Given the description of an element on the screen output the (x, y) to click on. 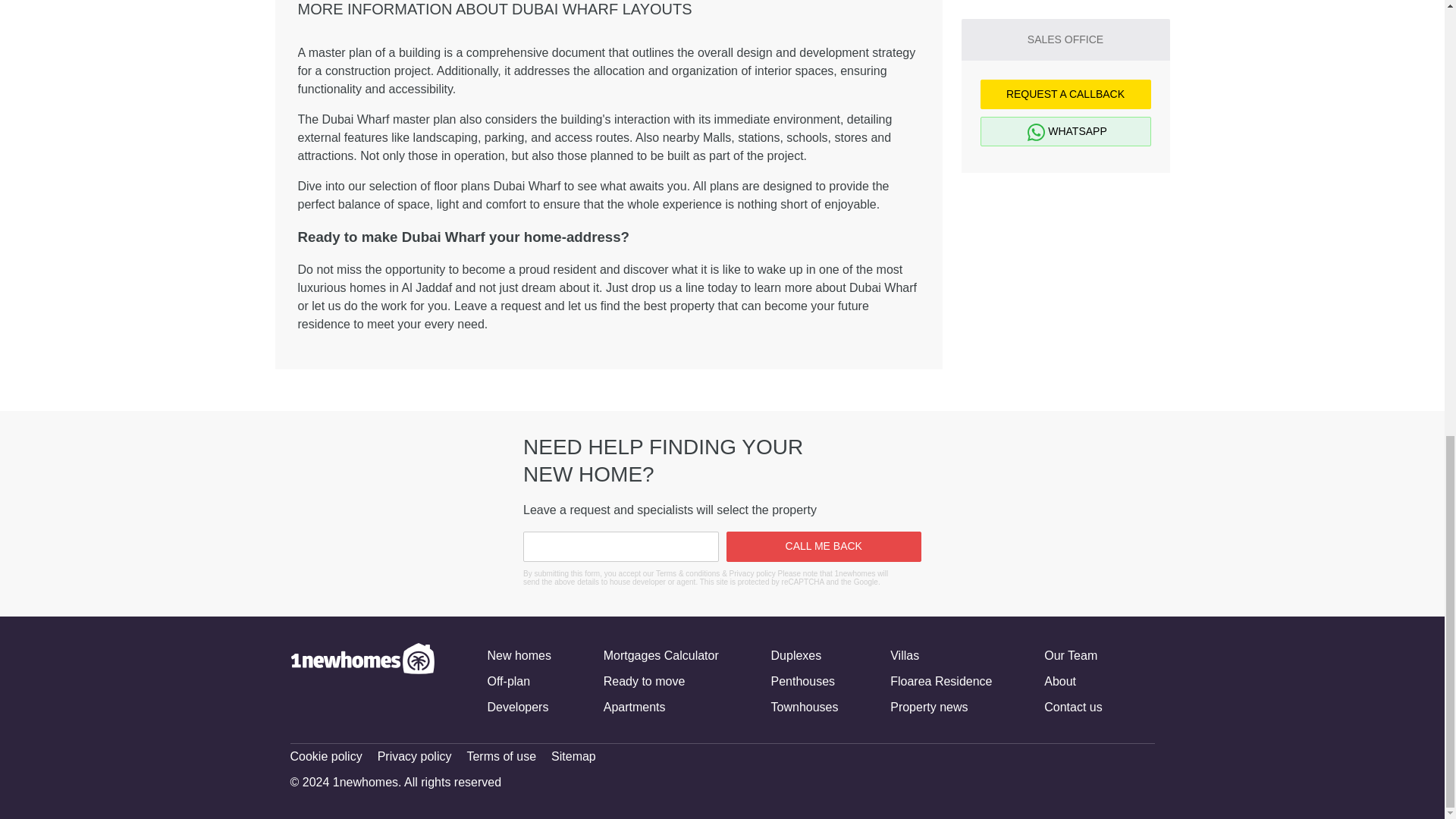
Privacy policy (414, 756)
Property news (928, 707)
About (1059, 681)
Apartments (634, 707)
Villas (903, 655)
Ready to move (644, 681)
Cookie policy (325, 756)
Our Team (1070, 655)
Developers (517, 707)
Floarea Residence (940, 681)
Duplexes (796, 655)
Off-plan (507, 681)
CALL ME BACK (823, 546)
Townhouses (804, 707)
Need help finding your new home? (384, 513)
